Given the description of an element on the screen output the (x, y) to click on. 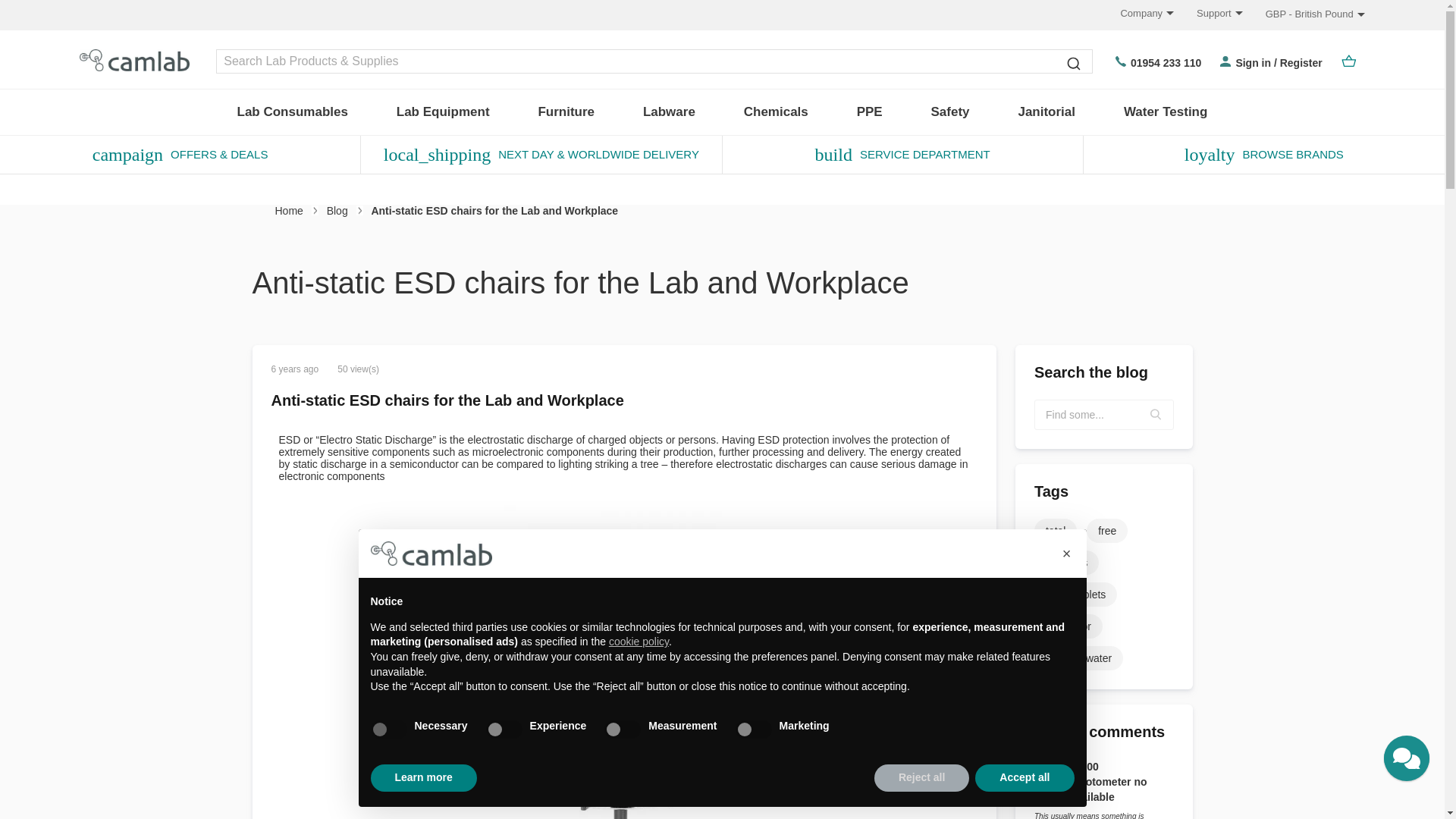
Camlab The Laboratory People (130, 61)
Blog (344, 210)
false (504, 729)
Home (296, 210)
Company (1135, 12)
true (387, 729)
Support (1208, 12)
Company (1135, 12)
false (753, 729)
false (622, 729)
01954 233 110 (1158, 62)
Submit (1073, 62)
 Anti-static ESD chairs for the Lab and Workplace (447, 400)
Support (1208, 12)
GBP - British Pound (1315, 14)
